Given the description of an element on the screen output the (x, y) to click on. 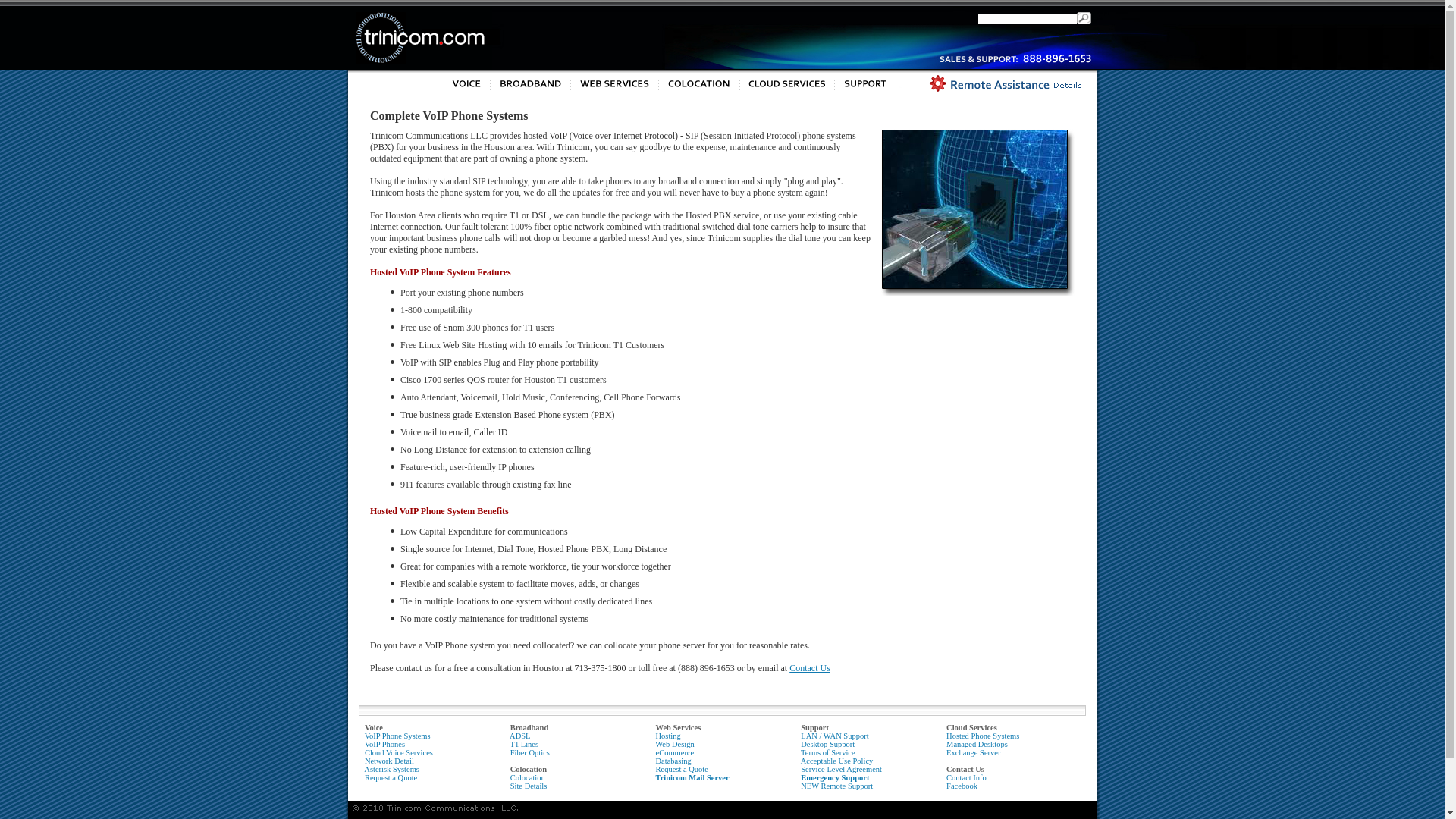
Exchange Server Element type: text (973, 752)
Cloud Voice Services Element type: text (398, 752)
VoIP Phone Systems Element type: text (397, 735)
Trinicom Mail Server Element type: text (691, 777)
Contact Us Element type: text (809, 667)
Service Level Agreement Element type: text (840, 769)
T1 Lines Element type: text (523, 744)
Acceptable Use Policy Element type: text (836, 760)
Support Element type: text (814, 727)
Network Detail Element type: text (389, 760)
Cloud Services Element type: text (971, 727)
Desktop Support Element type: text (827, 744)
Terms of Service Element type: text (827, 752)
Broadband Element type: text (529, 727)
Facebook Element type: text (961, 785)
Emergency Support Element type: text (834, 777)
eCommerce Element type: text (674, 752)
Asterisk Systems Element type: text (391, 769)
Hosted Phone Systems Element type: text (982, 735)
Fiber Optics Element type: text (529, 752)
VoIP Phones Element type: text (384, 744)
Contact Info Element type: text (966, 777)
Web Services Element type: text (677, 727)
Databasing Element type: text (672, 760)
Request a Quote Element type: text (390, 777)
ADSL Element type: text (519, 735)
NEW Remote Support Element type: text (836, 785)
Web Design Element type: text (674, 744)
Site Details Element type: text (528, 785)
Request a Quote Element type: text (681, 769)
Colocation Element type: text (528, 769)
Voice Element type: text (373, 727)
LAN / WAN Support Element type: text (834, 735)
Colocation
    Element type: text (524, 781)
Managed Desktops Element type: text (976, 744)
Hosting Element type: text (667, 735)
